Given the description of an element on the screen output the (x, y) to click on. 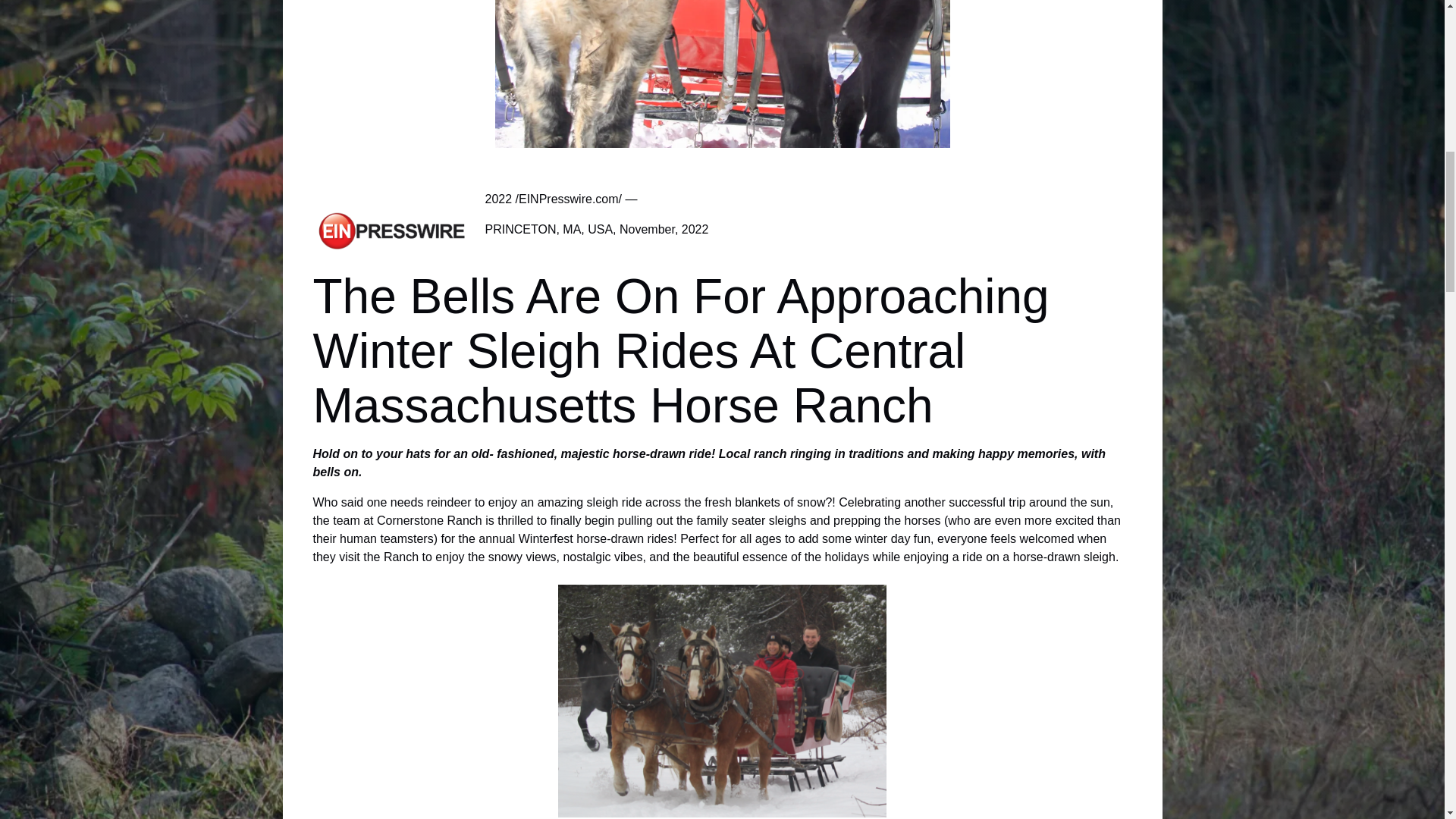
FareHarbor (1342, 64)
